Given the description of an element on the screen output the (x, y) to click on. 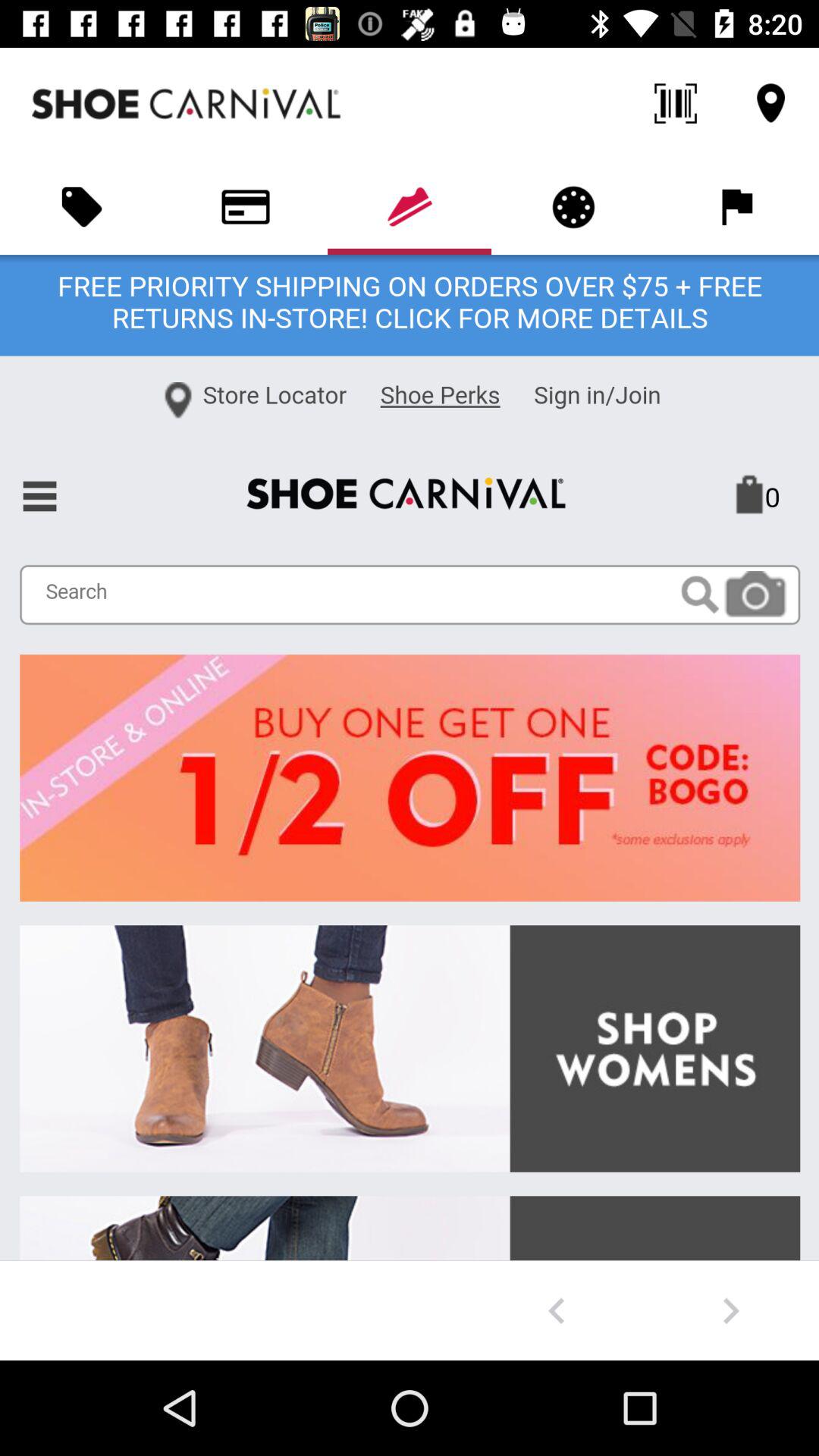
view more shoes (731, 1310)
